Given the description of an element on the screen output the (x, y) to click on. 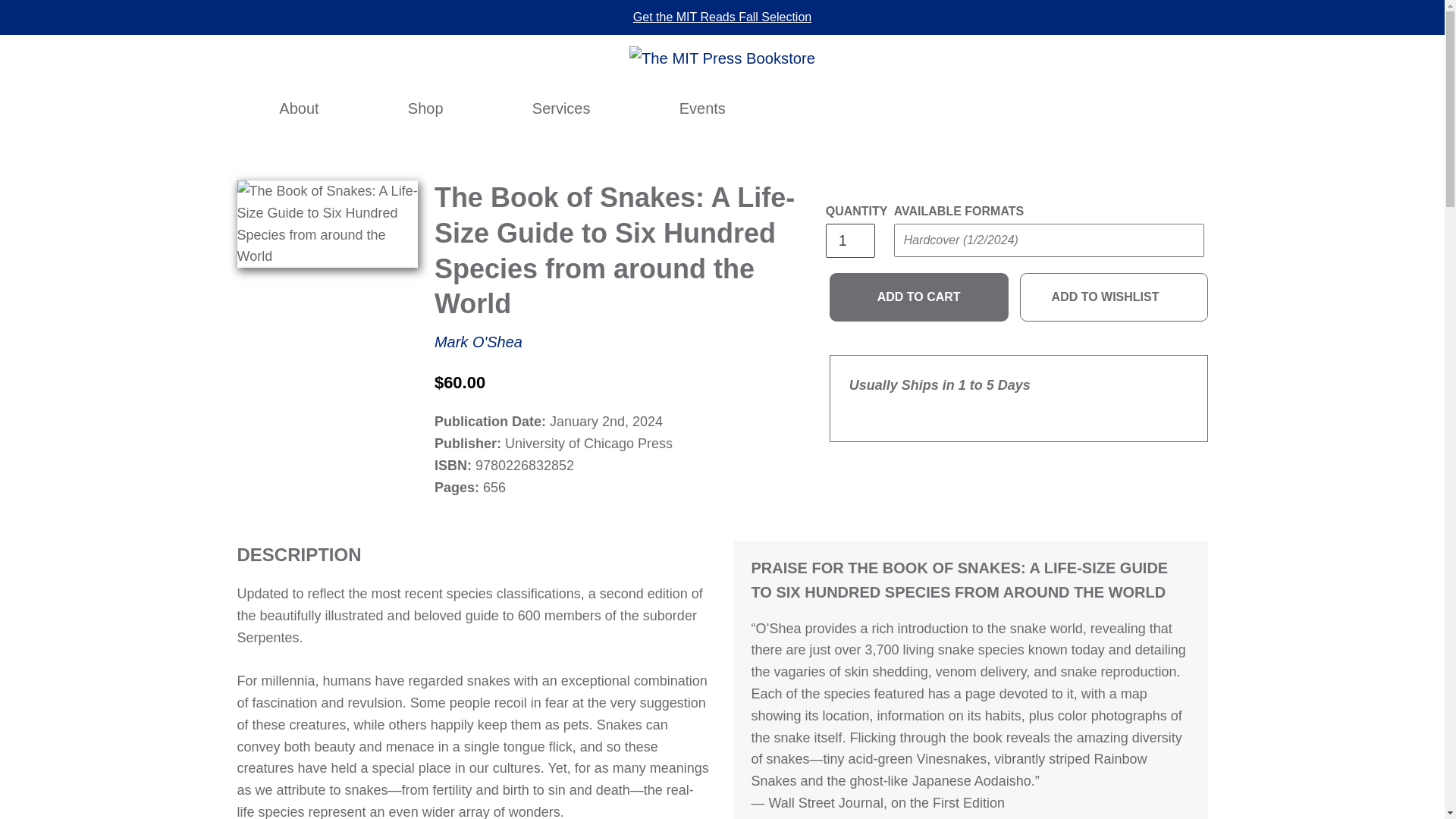
Log in (1022, 108)
1 (850, 240)
Log in (1022, 108)
Add to cart (919, 296)
Get the MIT Reads Fall Selection (721, 16)
SEARCH (989, 108)
Cart (1088, 108)
Wishlists (1055, 108)
Services (561, 108)
Submit (1169, 116)
